Given the description of an element on the screen output the (x, y) to click on. 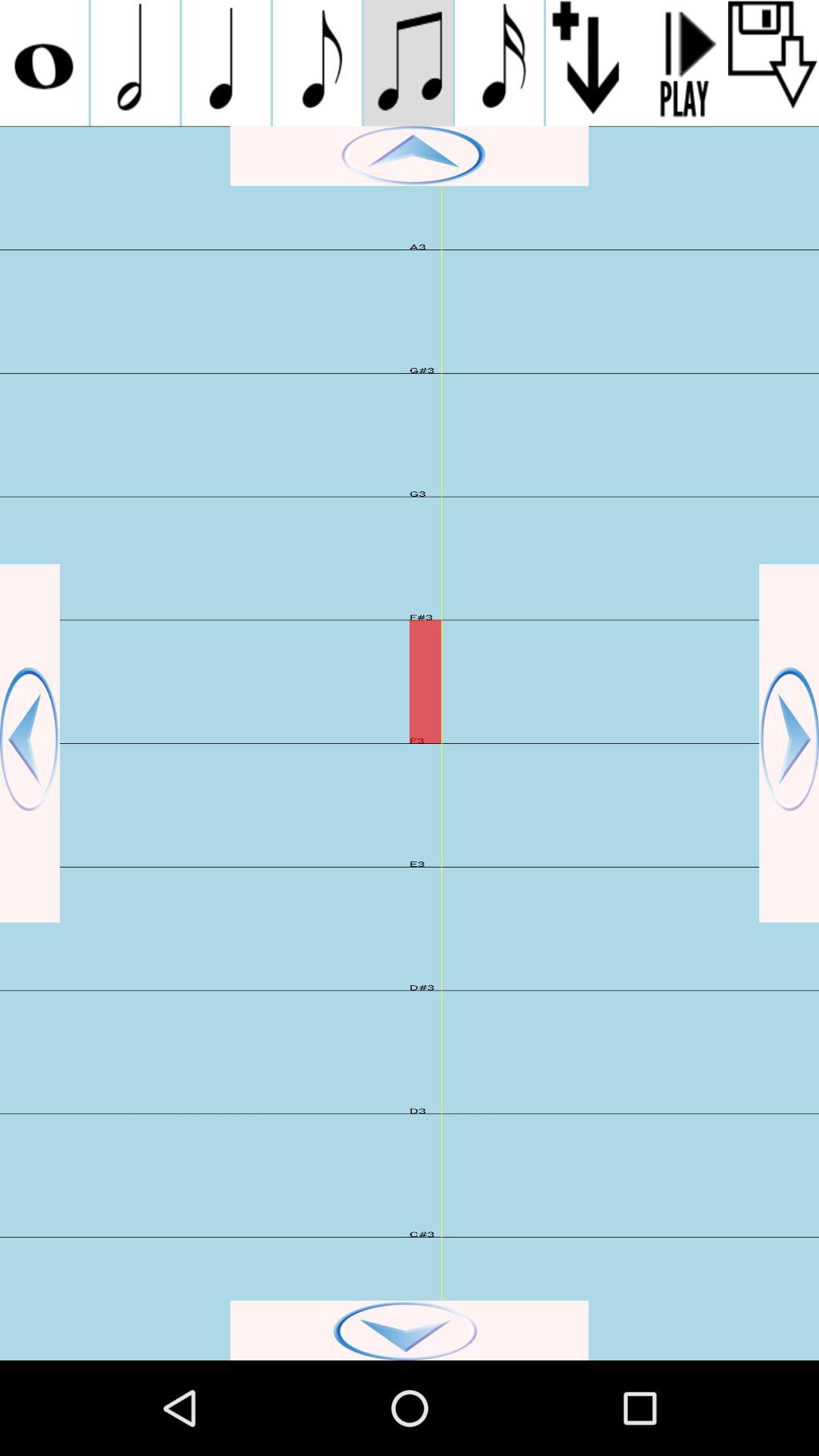
go up (409, 155)
